Given the description of an element on the screen output the (x, y) to click on. 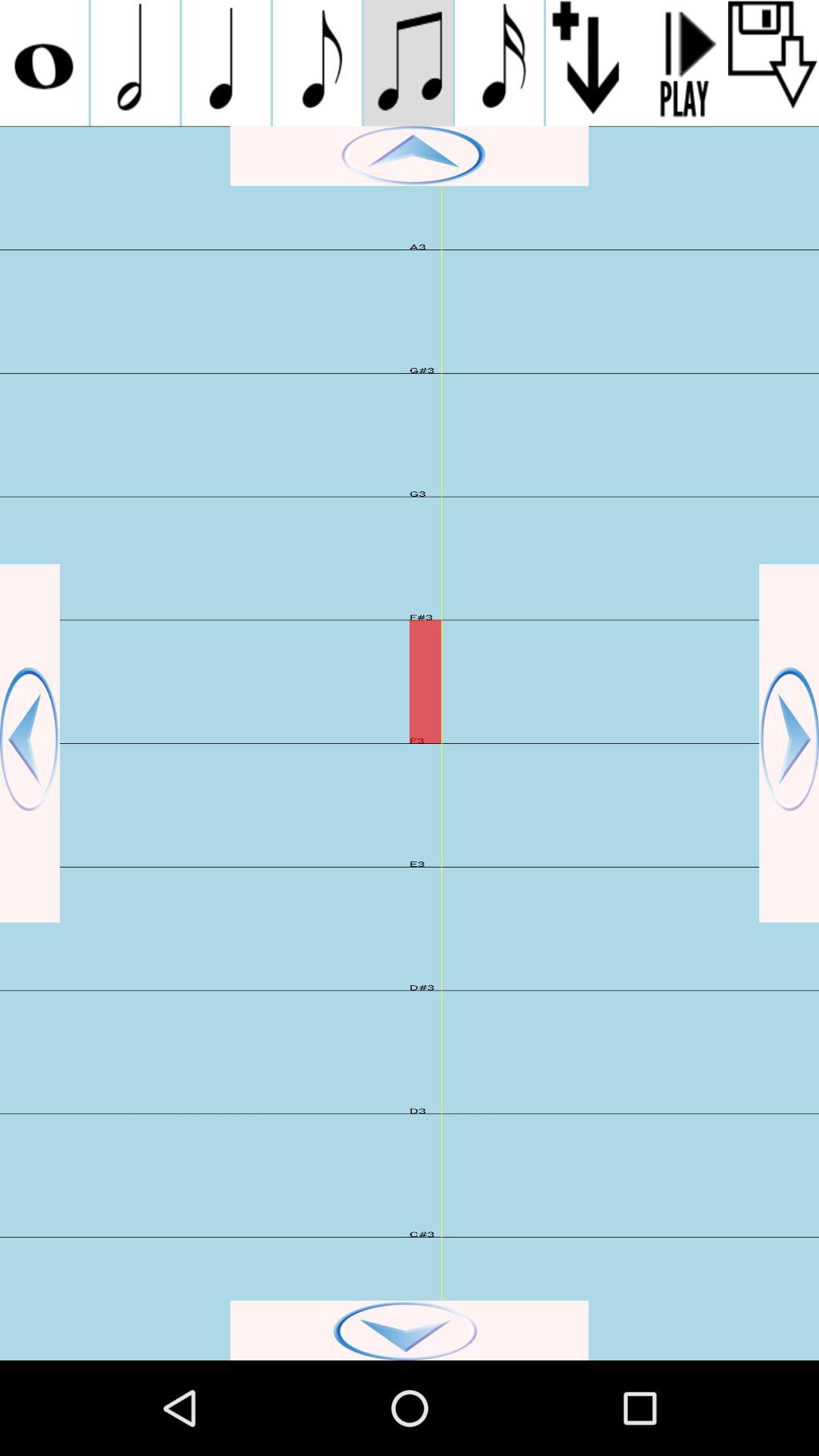
go up (409, 155)
